Given the description of an element on the screen output the (x, y) to click on. 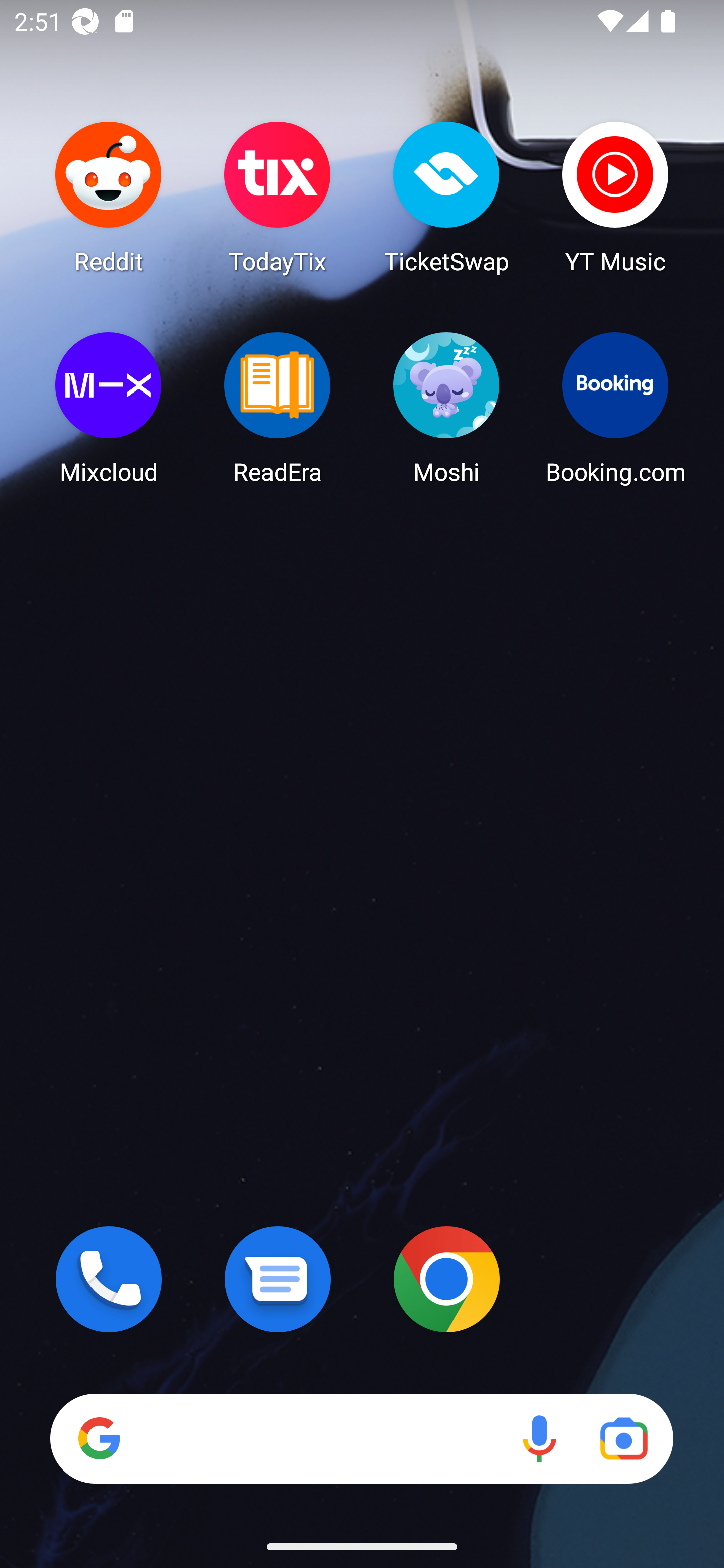
Reddit (108, 196)
TodayTix (277, 196)
TicketSwap (445, 196)
YT Music (615, 196)
Mixcloud (108, 407)
ReadEra (277, 407)
Moshi (445, 407)
Booking.com (615, 407)
Phone (108, 1279)
Messages (277, 1279)
Chrome (446, 1279)
Search Voice search Google Lens (361, 1438)
Voice search (539, 1438)
Google Lens (623, 1438)
